Given the description of an element on the screen output the (x, y) to click on. 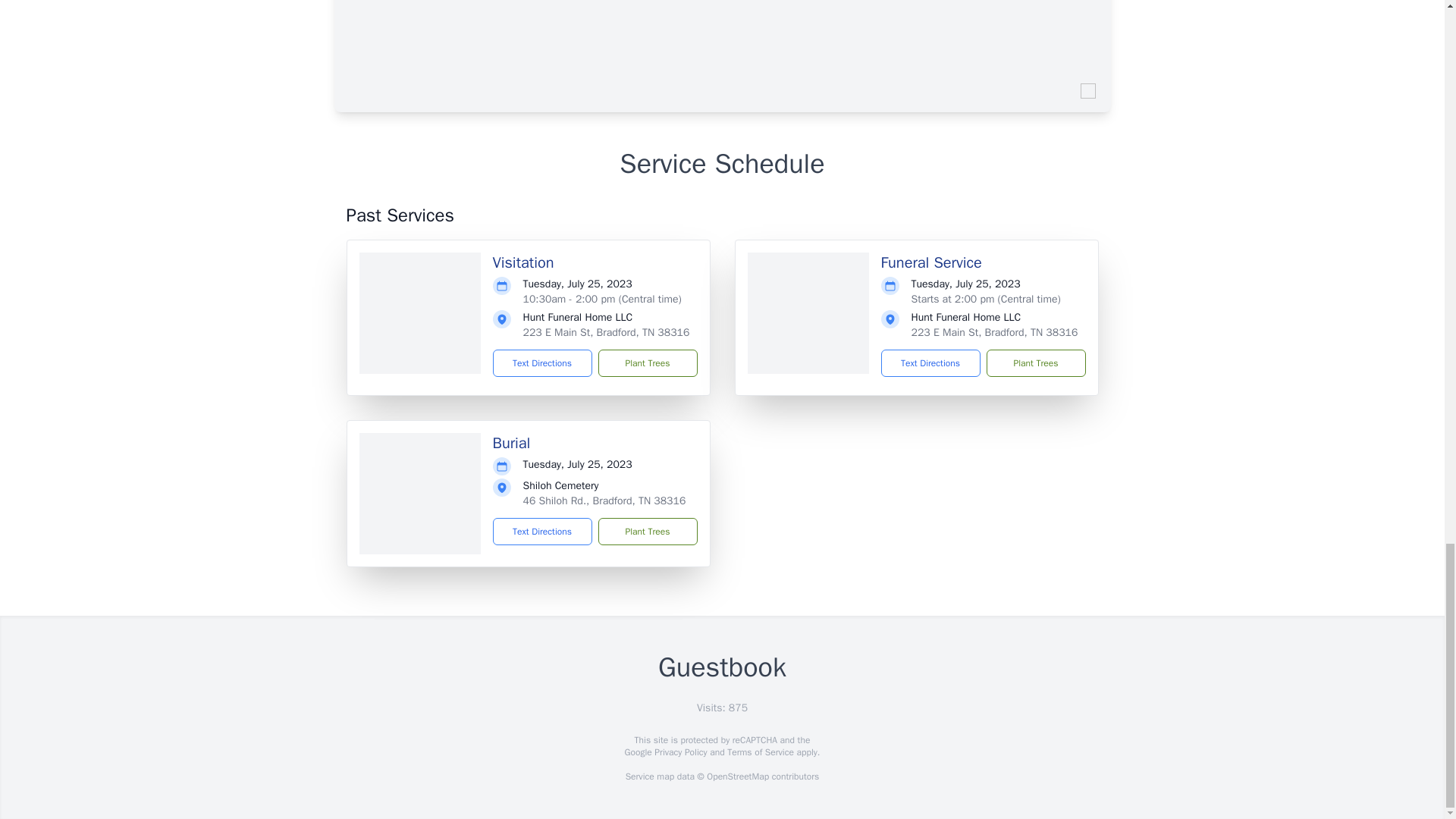
Plant Trees (1034, 362)
Text Directions (542, 531)
OpenStreetMap (737, 776)
Text Directions (542, 362)
Plant Trees (646, 531)
Privacy Policy (679, 752)
Text Directions (929, 362)
223 E Main St, Bradford, TN 38316 (994, 332)
46 Shiloh Rd., Bradford, TN 38316 (603, 500)
Plant Trees (646, 362)
